Given the description of an element on the screen output the (x, y) to click on. 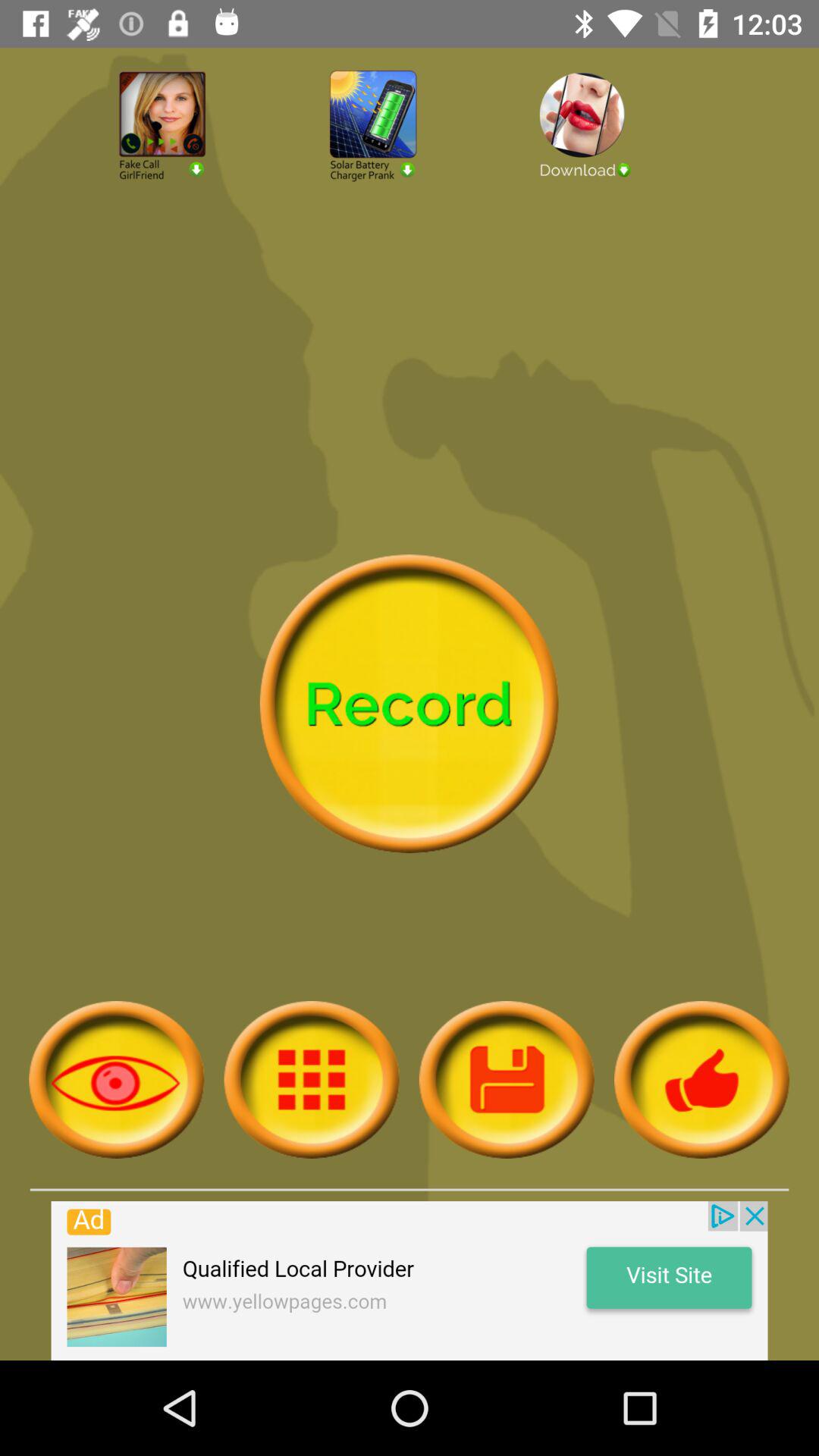
call button (199, 166)
